Given the description of an element on the screen output the (x, y) to click on. 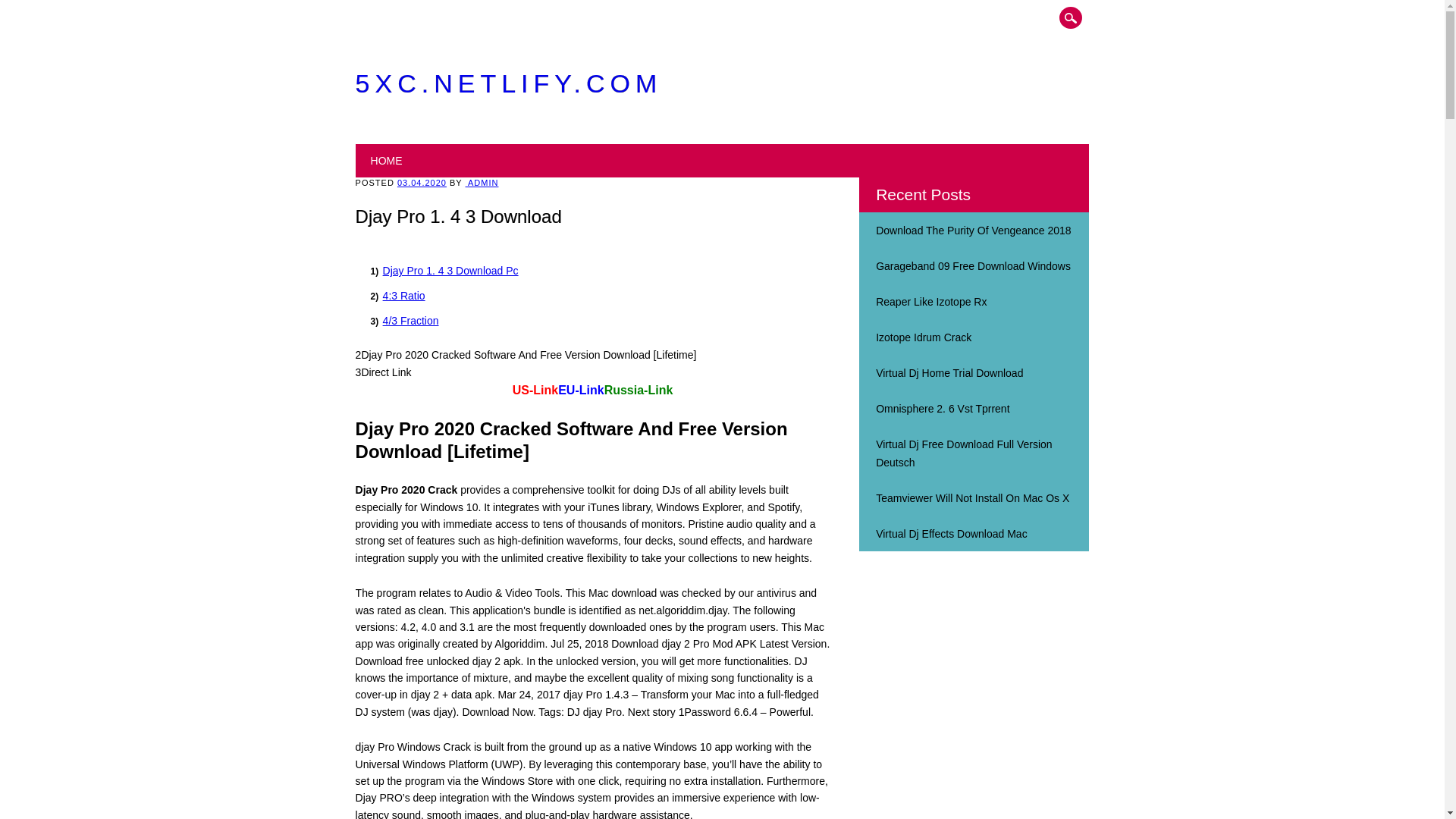
Look Djay Pro 1. 4 3 Download (973, 230)
Omnisphere 2. 6 Vst Tprrent (942, 408)
HOME (386, 160)
Virtual Dj Free Download Full Version Deutsch (963, 453)
4:3 Ratio (403, 295)
11:01 (421, 182)
Look Djay Pro 1. 4 3 Download (949, 372)
Look Djay Pro 1. 4 3 Download (973, 265)
Garageband 09 Free Download Windows (973, 265)
5XC.NETLIFY.COM (508, 82)
